Given the description of an element on the screen output the (x, y) to click on. 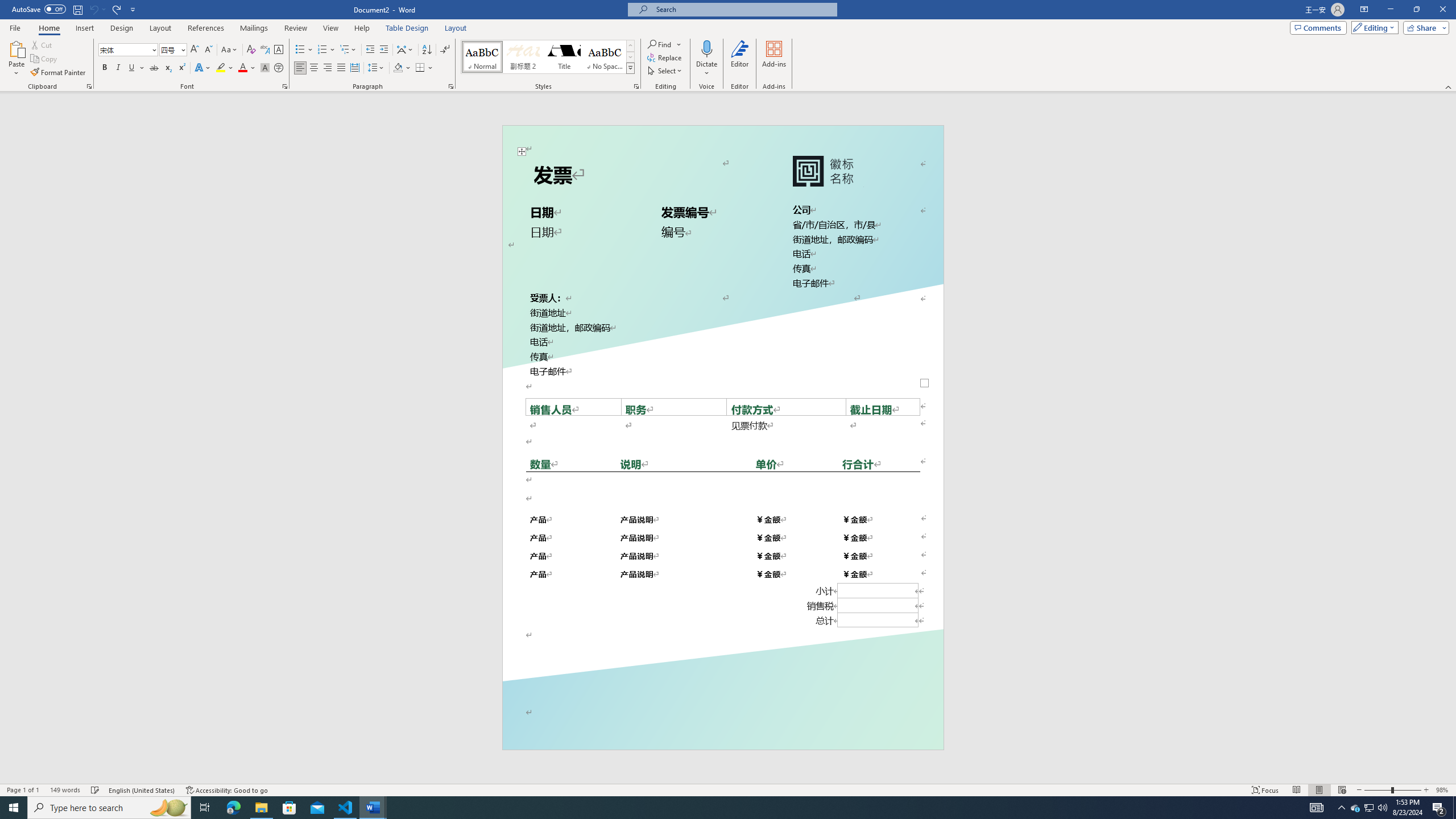
Can't Undo (96, 9)
